Given the description of an element on the screen output the (x, y) to click on. 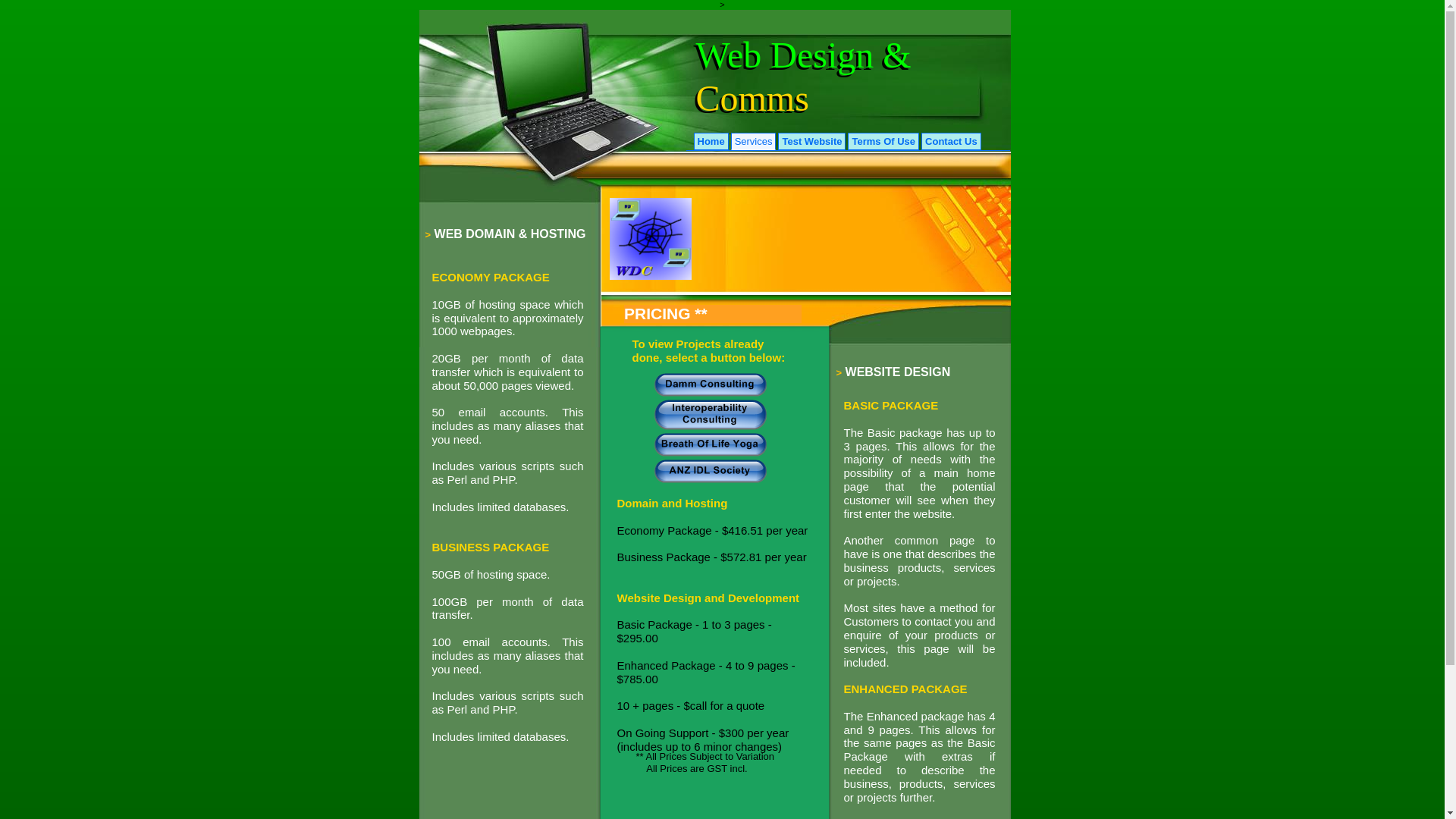
Test Website Element type: text (811, 141)
Contact Us Element type: text (951, 141)
Terms Of Use Element type: text (883, 141)
Services Element type: text (753, 141)
Home Element type: text (710, 141)
